Given the description of an element on the screen output the (x, y) to click on. 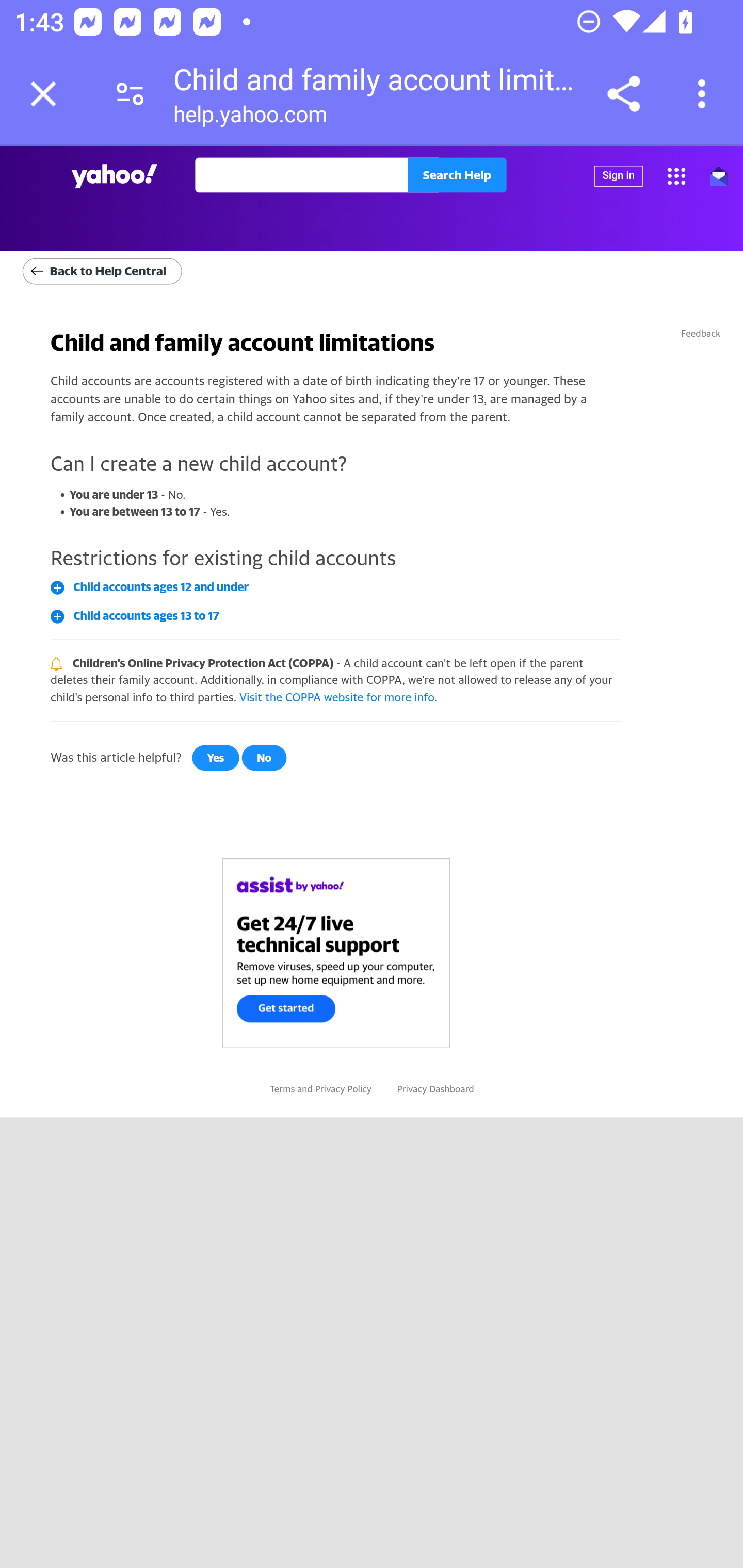
Close tab (43, 93)
Share (623, 93)
Customize and control Google Chrome (705, 93)
Connection is secure (129, 93)
help.yahoo.com (249, 117)
Search Help (456, 174)
help (114, 176)
Sign in (618, 176)
Check your mail icon (718, 175)
Back to Help Central (101, 271)
Feedback (700, 332)
Child accounts ages 12 and under (160, 586)
Child accounts ages 13 to 17 (145, 615)
Visit the COPPA website for more info (336, 696)
Yes (214, 757)
No (263, 757)
CTA-button (336, 952)
Terms (281, 1088)
Privacy Policy (343, 1088)
Privacy Dashboard (435, 1088)
